Given the description of an element on the screen output the (x, y) to click on. 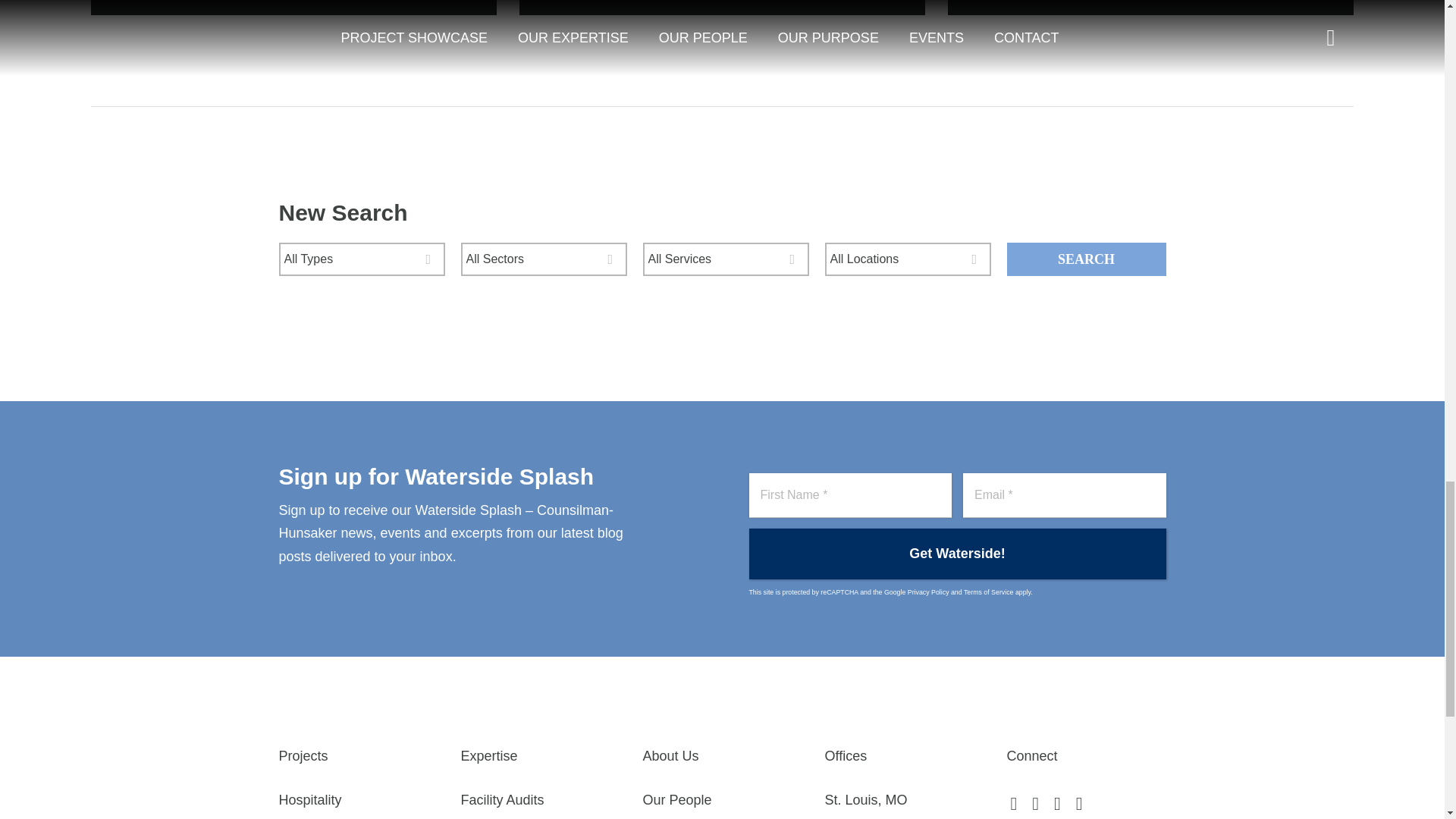
SEARCH (1086, 259)
Facility Audits (540, 800)
Get Waterside! (957, 553)
Get Waterside! (957, 553)
Hospitality (358, 800)
Terms of Service (988, 592)
Privacy Policy (928, 592)
